Given the description of an element on the screen output the (x, y) to click on. 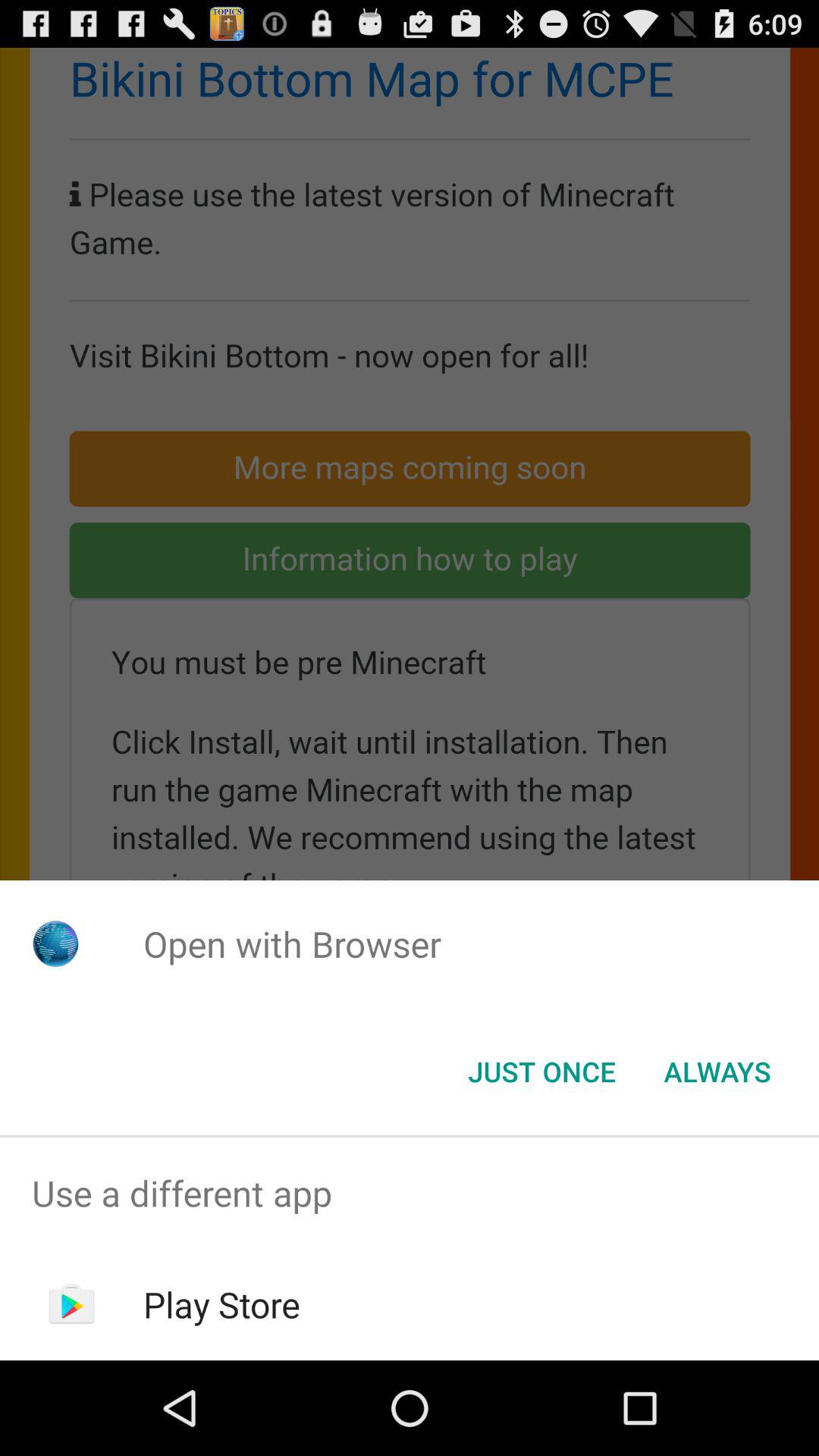
open just once button (541, 1071)
